Given the description of an element on the screen output the (x, y) to click on. 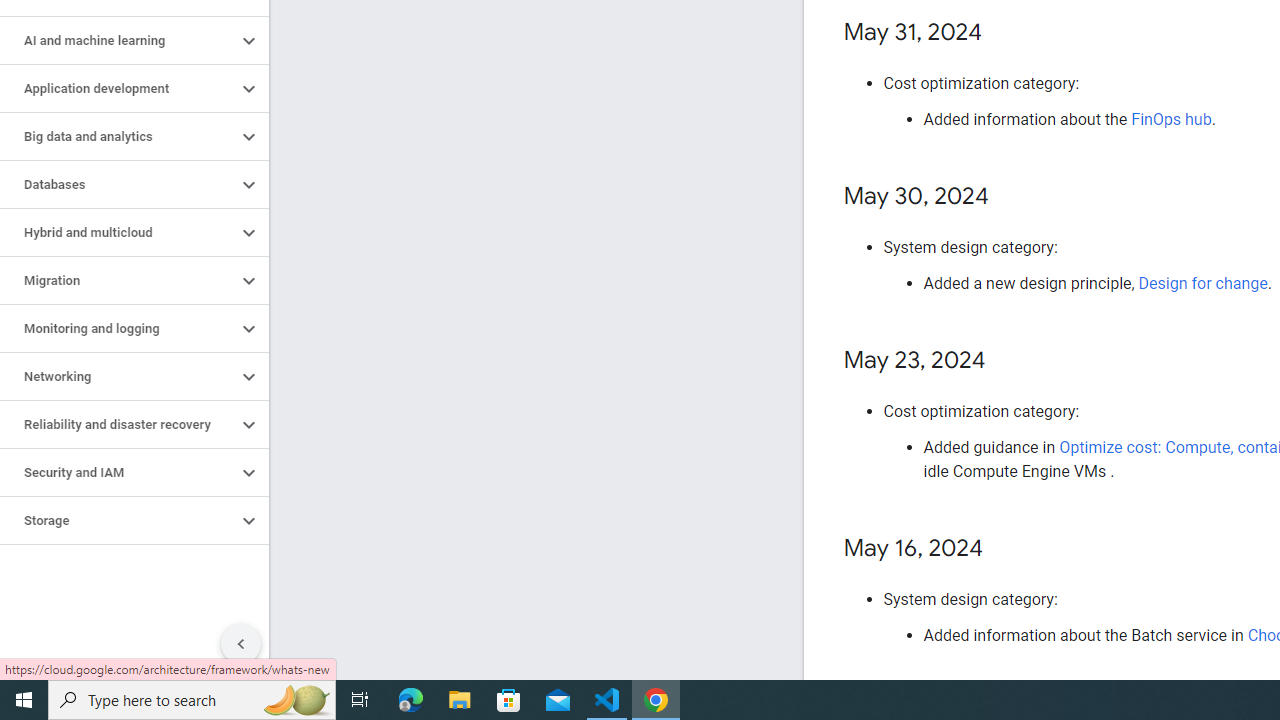
Networking (118, 376)
Monitoring and logging (118, 328)
Copy link to this section: May 23, 2024 (1005, 361)
AI and machine learning (118, 40)
